Given the description of an element on the screen output the (x, y) to click on. 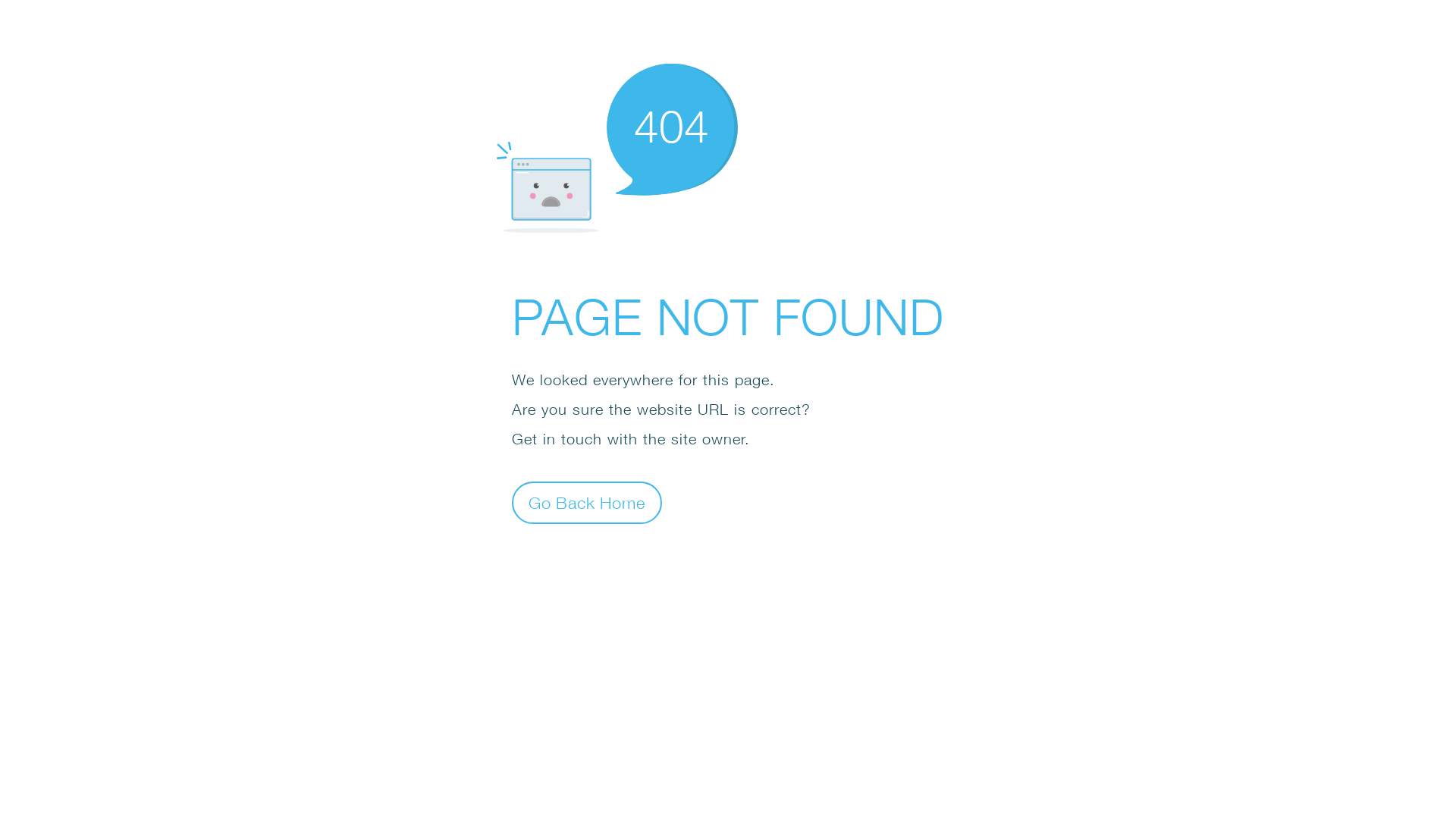
Go Back Home Element type: text (586, 502)
